Given the description of an element on the screen output the (x, y) to click on. 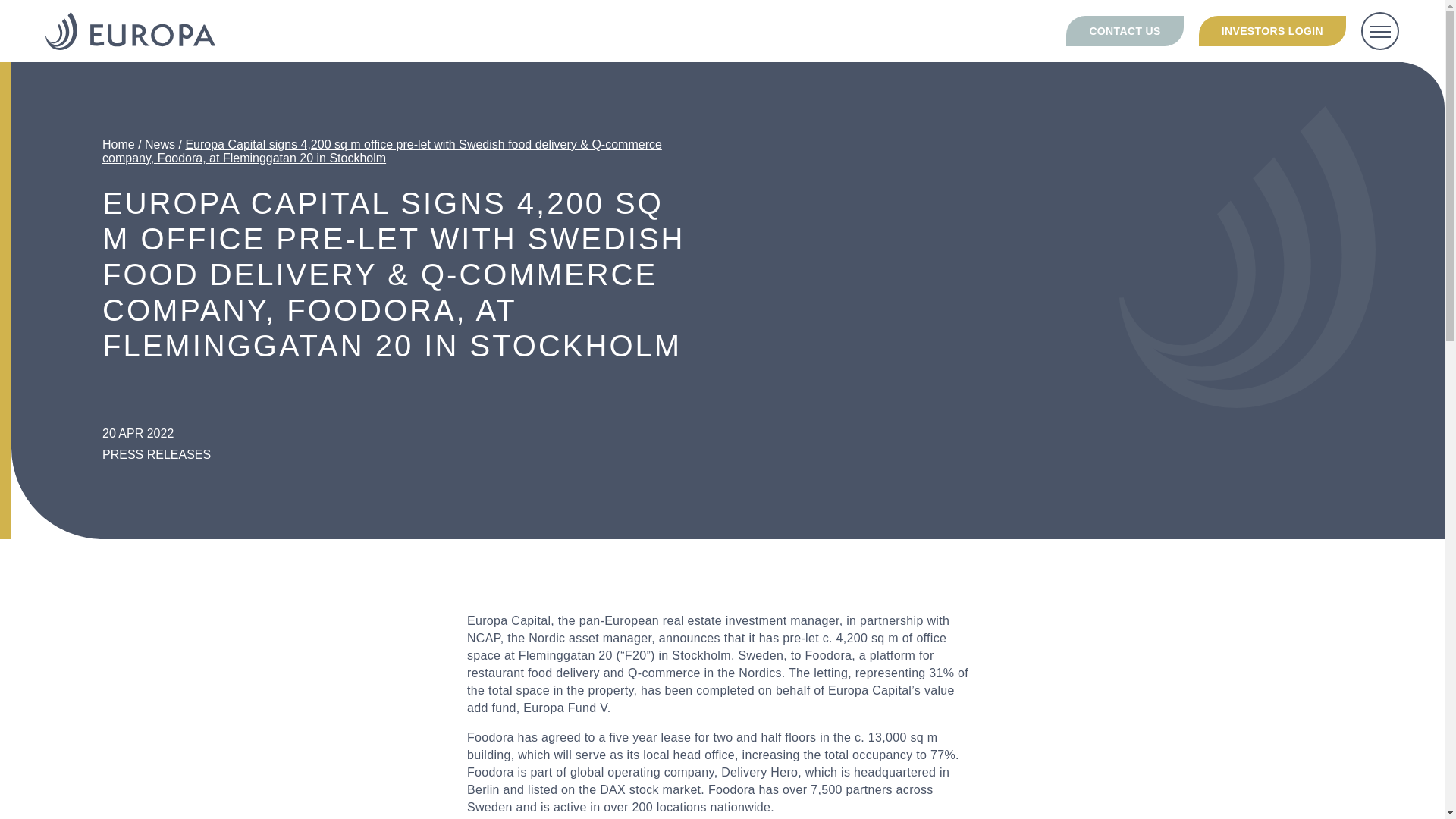
INVESTORS LOGIN (1271, 30)
Home (118, 144)
CONTACT US (1123, 30)
News (159, 144)
